Given the description of an element on the screen output the (x, y) to click on. 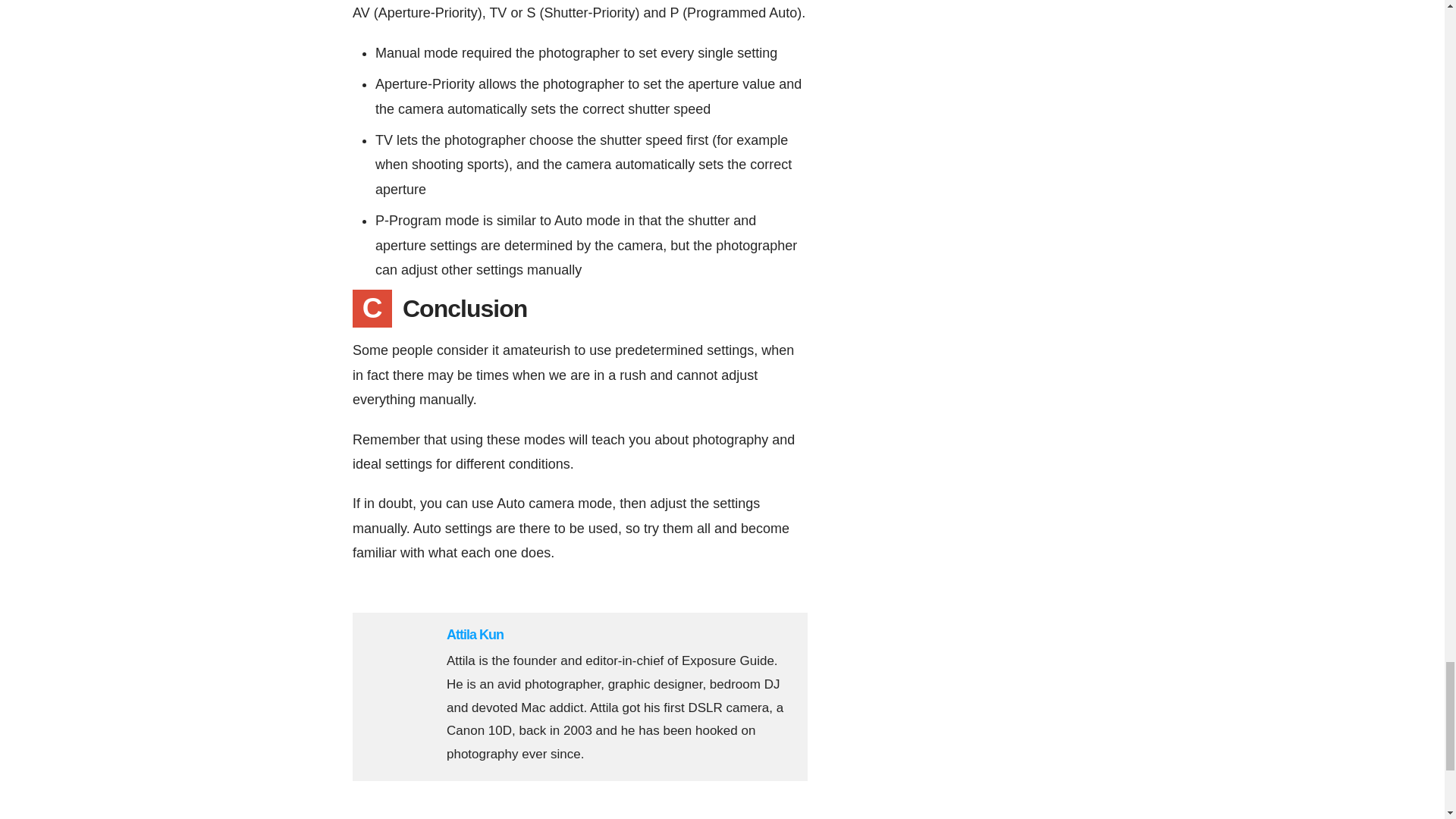
Attila Kun (474, 634)
